Given the description of an element on the screen output the (x, y) to click on. 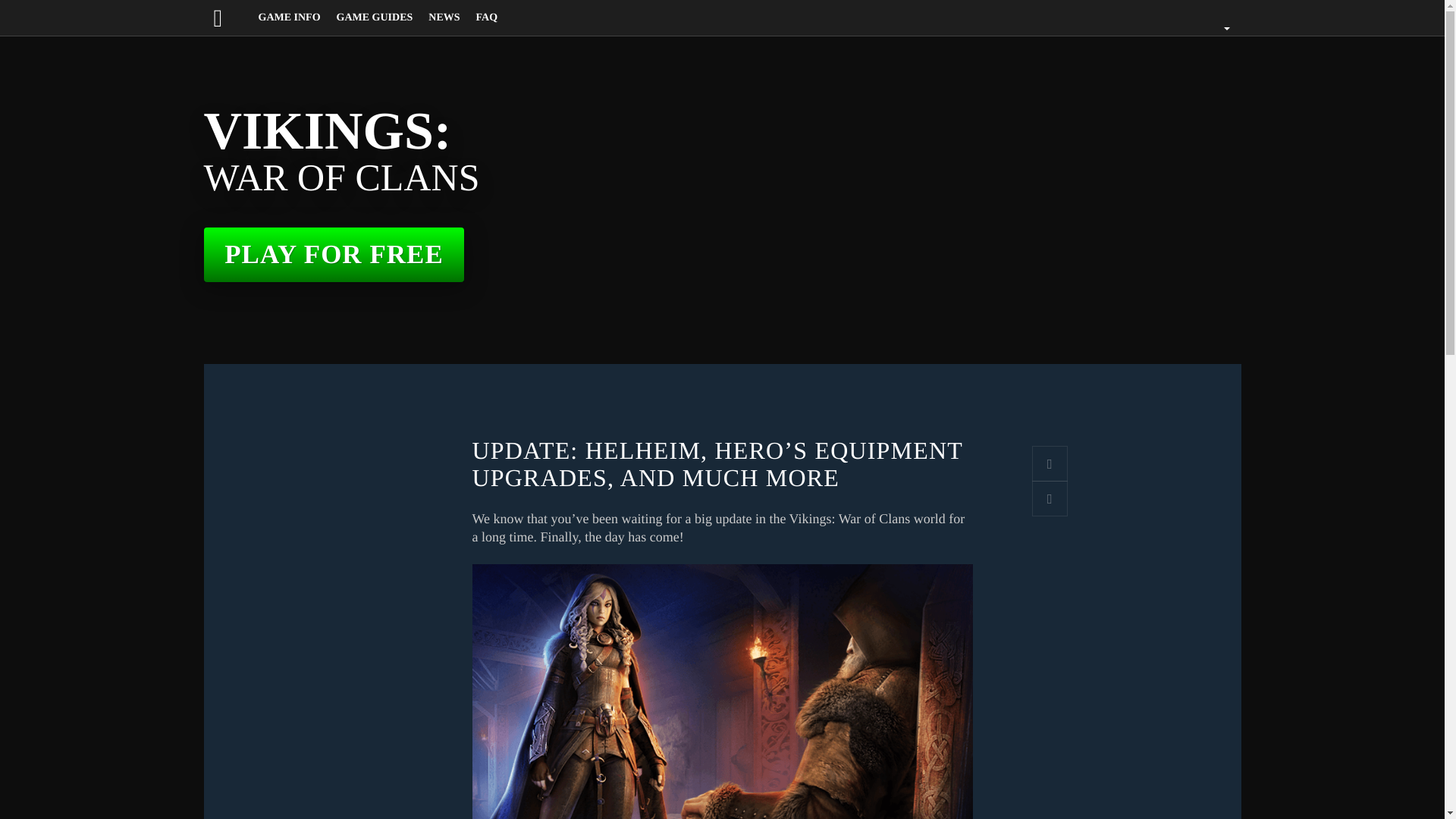
FAQ (486, 18)
NEWS (443, 18)
GAME INFO (289, 18)
PLAY FOR FREE (333, 254)
GAME GUIDES (375, 18)
